Given the description of an element on the screen output the (x, y) to click on. 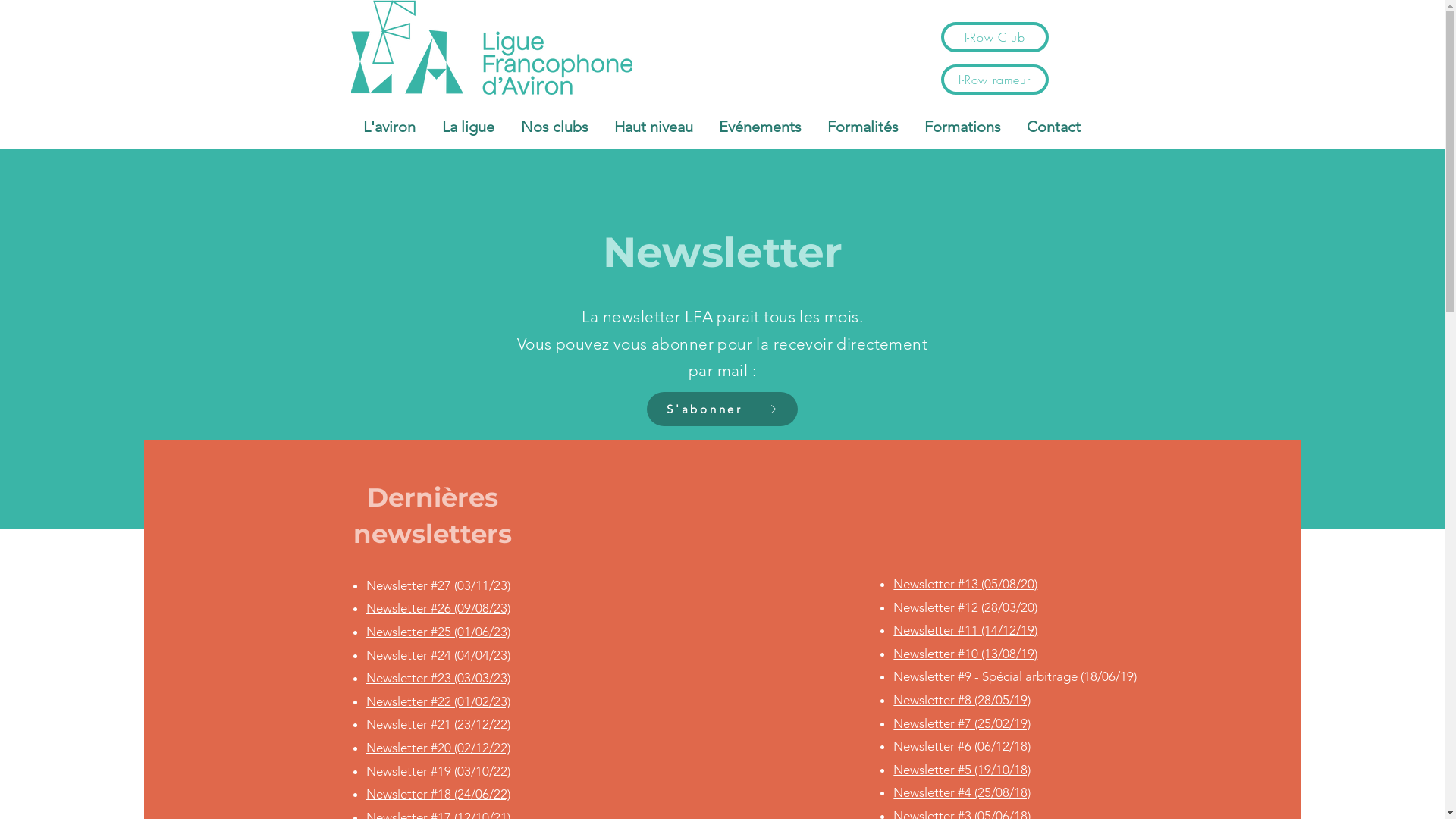
La ligue Element type: text (468, 126)
Newsletter #21 (23/12/22) Element type: text (438, 723)
Newsletter #4 (25/08/18) Element type: text (961, 792)
Newsletter #19 (03/10/22) Element type: text (438, 770)
Newsletter #5 (19/10/18) Element type: text (961, 769)
Newsletter #20 (02/12/22) Element type: text (438, 747)
I-Row Club Element type: text (994, 36)
Newsletter #27 (03/11/23) Element type: text (438, 585)
Newsletter #26 (09/08/23) Element type: text (438, 607)
I-Row rameur Element type: text (994, 79)
Newsletter #8 (28/05/19) Element type: text (961, 699)
Newsletter #13 (05/08/20) Element type: text (965, 583)
Nos clubs Element type: text (554, 126)
Newsletter #11 (14/12/19) Element type: text (965, 629)
Newsletter #23 (03/03/23) Element type: text (438, 677)
Newsletter #25 (01/06/23) Element type: text (438, 631)
Newsletter #7 (25/02/19) Element type: text (961, 723)
Newsletter #18 (24/06/22) Element type: text (438, 793)
Newsletter #12 (28/03/20) Element type: text (965, 607)
Newsletter #6 (06/12/18) Element type: text (961, 745)
Newsletter #22 (01/02/23) Element type: text (438, 701)
L'aviron Element type: text (389, 126)
Newsletter #10 (13/08/19) Element type: text (965, 653)
S'abonner Element type: text (721, 409)
Haut niveau Element type: text (652, 126)
Contact Element type: text (1052, 126)
Newsletter #24 (04/04/23) Element type: text (438, 654)
Formations Element type: text (962, 126)
